Given the description of an element on the screen output the (x, y) to click on. 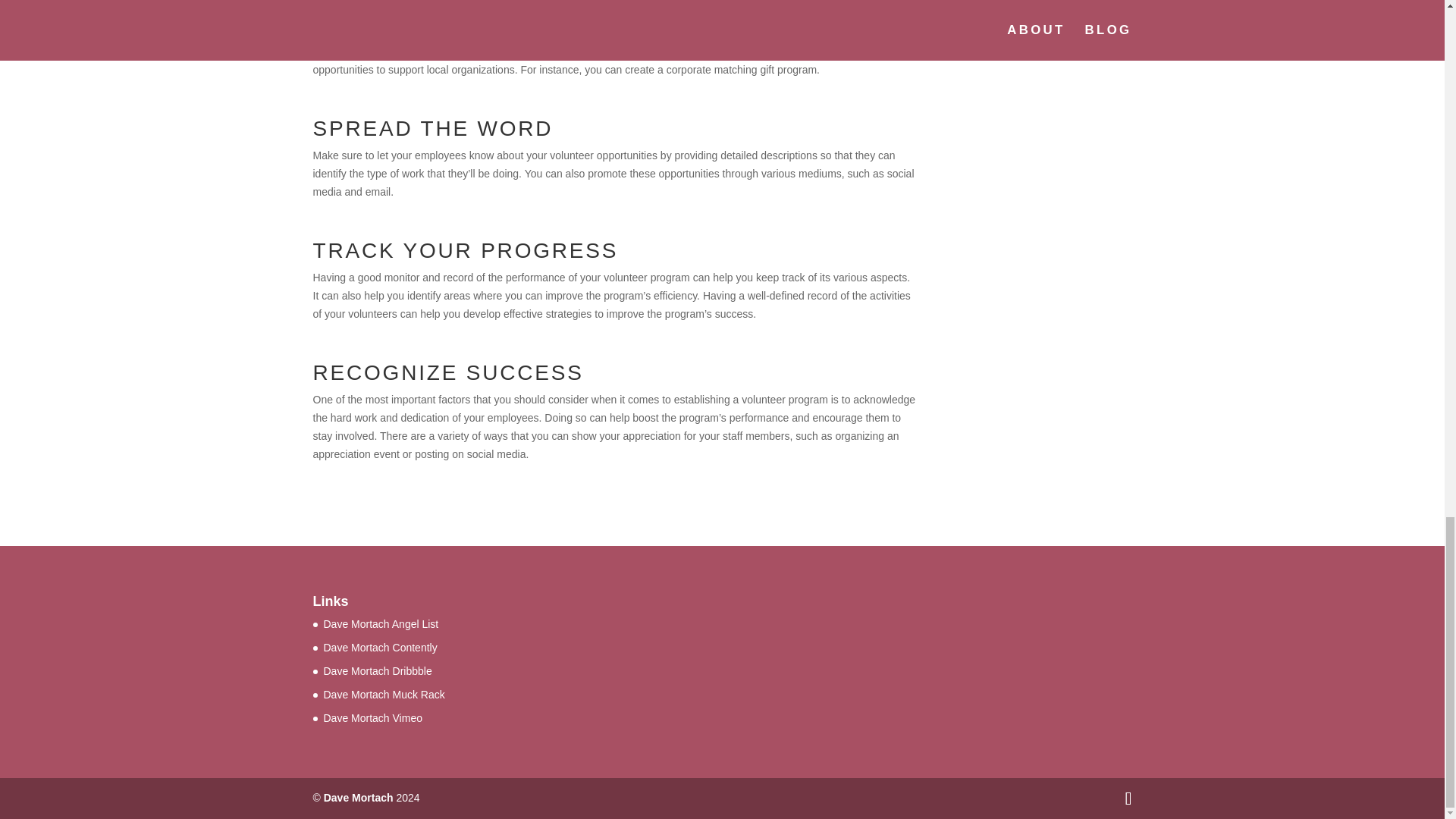
Dave Mortach Contently (379, 647)
Dave Mortach Muck Rack (383, 694)
Dave Mortach Vimeo (372, 717)
Dave Mortach Angel List (380, 623)
Dave Mortach Dribbble (376, 671)
Dave Mortach (358, 797)
